Given the description of an element on the screen output the (x, y) to click on. 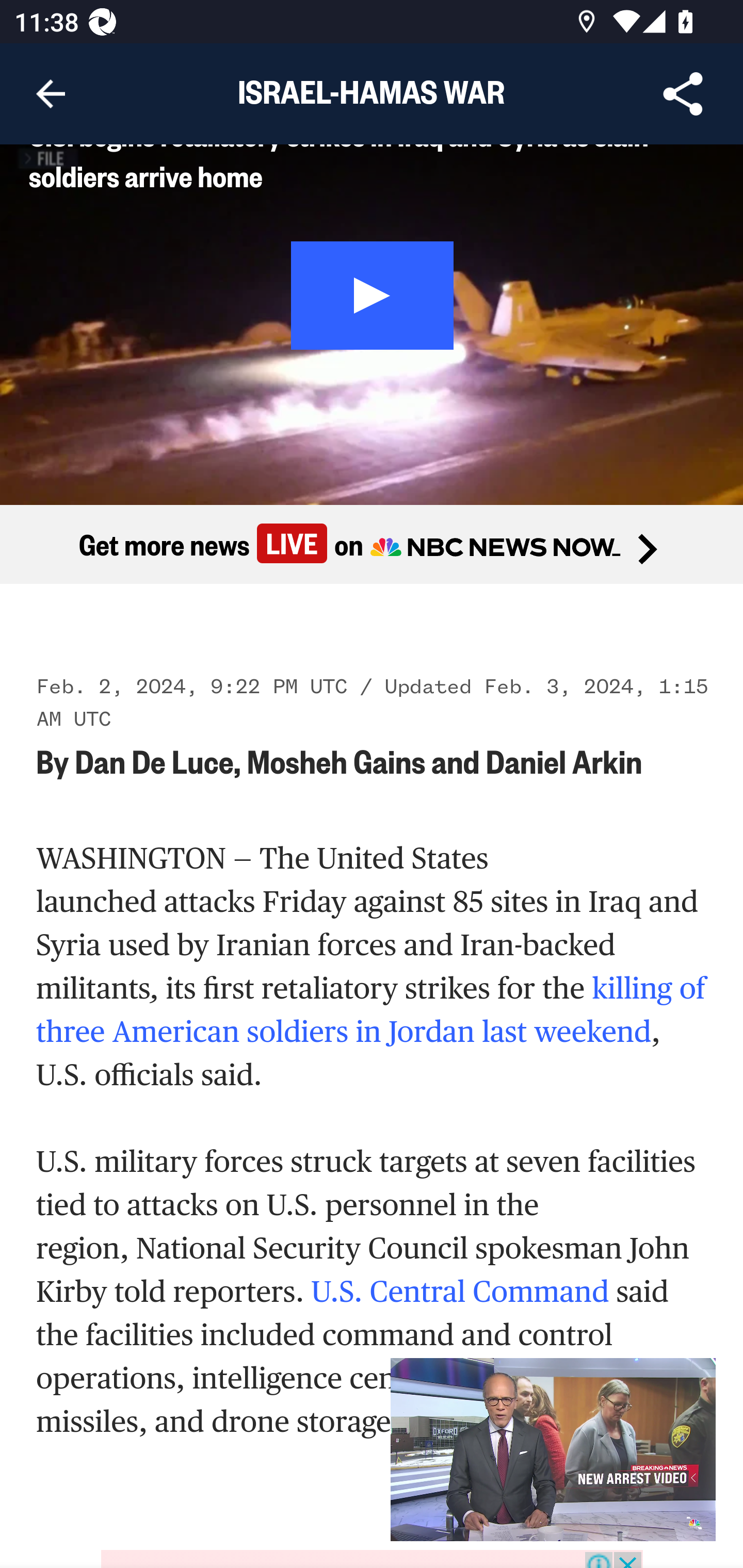
Navigate up (50, 93)
Share Article, button (683, 94)
Get more news Live on Get more news Live on (371, 545)
killing of three American soldiers (370, 1012)
U.S. Central Command  (463, 1294)
